Given the description of an element on the screen output the (x, y) to click on. 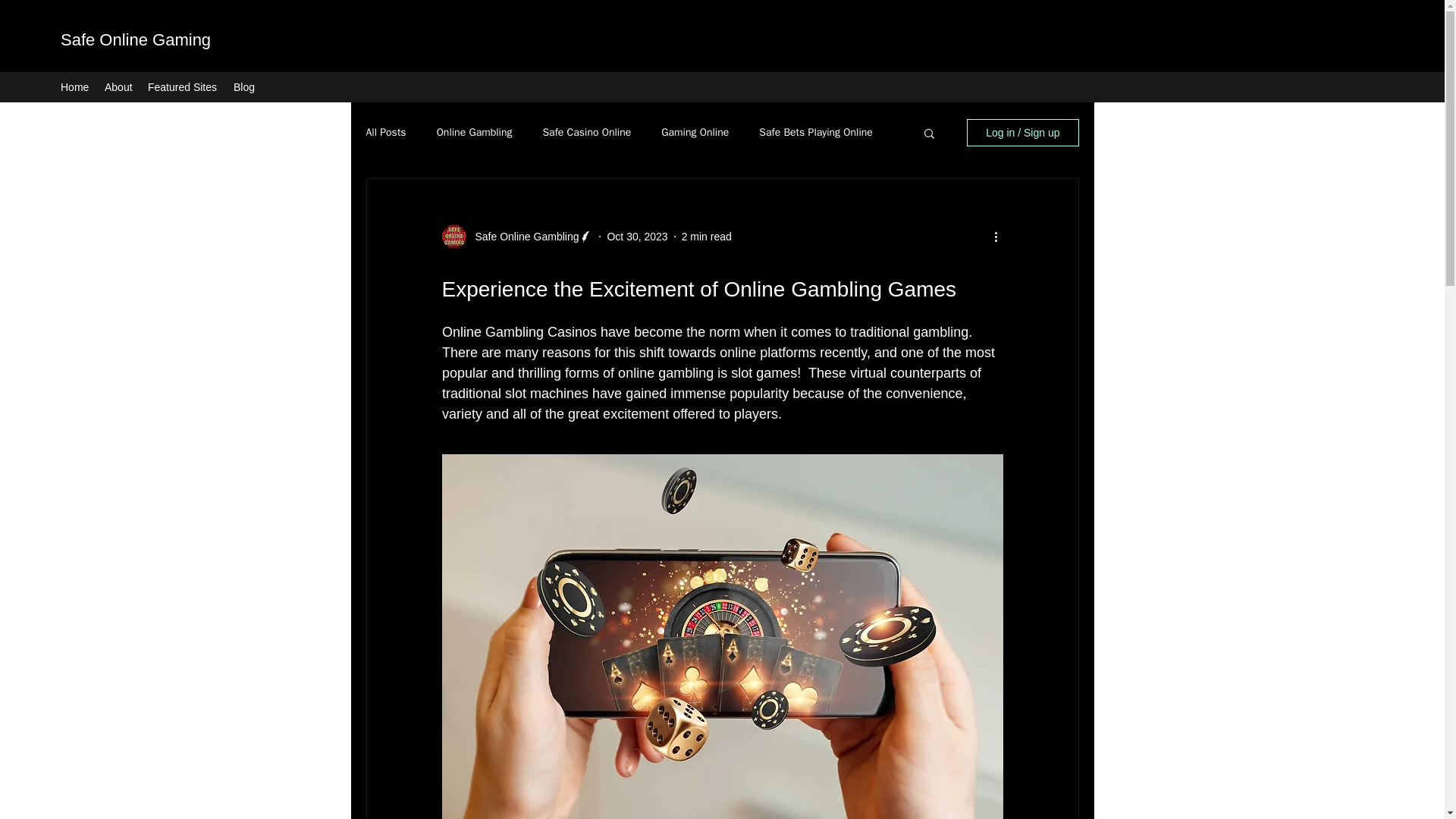
Online Gambling (474, 132)
Gaming Online (695, 132)
Safe Casino Online (585, 132)
Safe Online Gambling (521, 236)
Oct 30, 2023 (636, 236)
Safe Bets Playing Online (815, 132)
2 min read (706, 236)
All Posts (385, 132)
Home (74, 87)
About (118, 87)
